Given the description of an element on the screen output the (x, y) to click on. 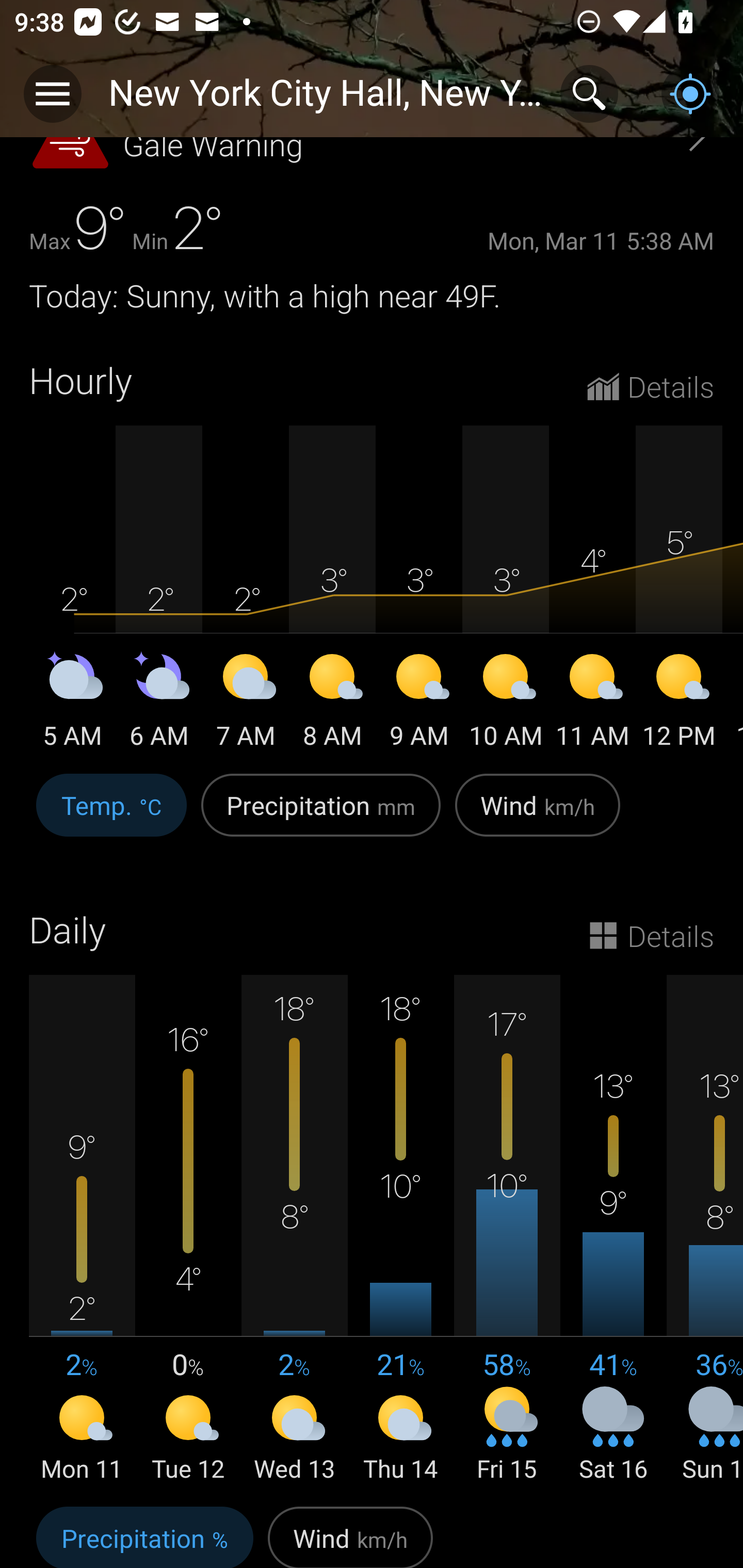
5 AM (71, 704)
6 AM (158, 704)
7 AM (245, 704)
8 AM (332, 704)
9 AM (418, 704)
10 AM (505, 704)
11 AM (592, 704)
12 PM (679, 704)
Temp. °C (110, 815)
Precipitation mm (320, 815)
Wind km/h (537, 815)
9° 2° 2 % Mon 11 (81, 1229)
16° 4° 0 % Tue 12 (188, 1229)
18° 8° 2 % Wed 13 (294, 1229)
18° 10° 21 % Thu 14 (400, 1229)
17° 10° 58 % Fri 15 (506, 1229)
13° 9° 41 % Sat 16 (613, 1229)
13° 8° 36 % Sun 17 (704, 1229)
Precipitation % (144, 1533)
Wind km/h (349, 1533)
